Given the description of an element on the screen output the (x, y) to click on. 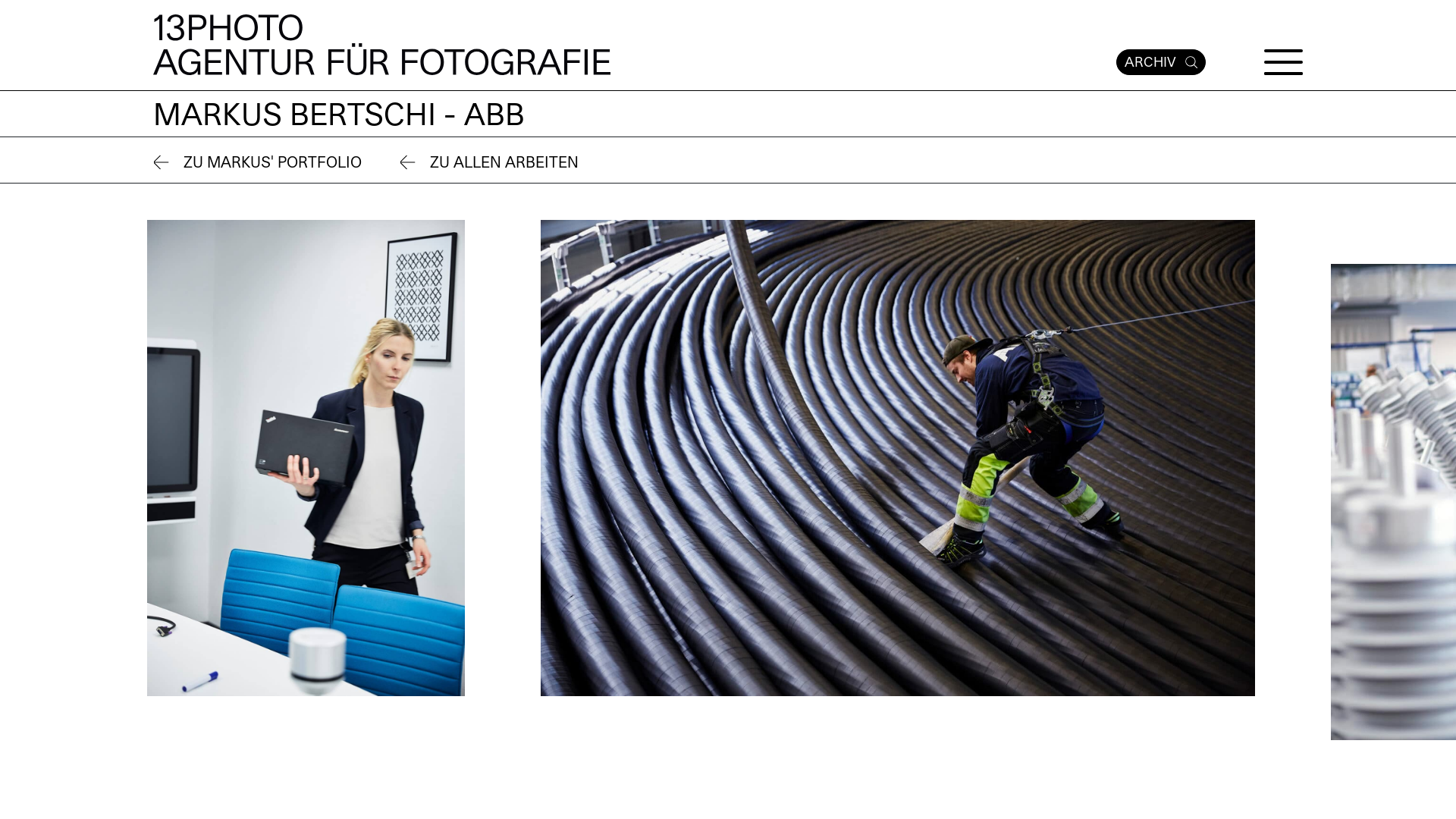
ARCHIV Element type: text (1160, 62)
ZU MARKUS' PORTFOLIO Element type: text (257, 163)
